Given the description of an element on the screen output the (x, y) to click on. 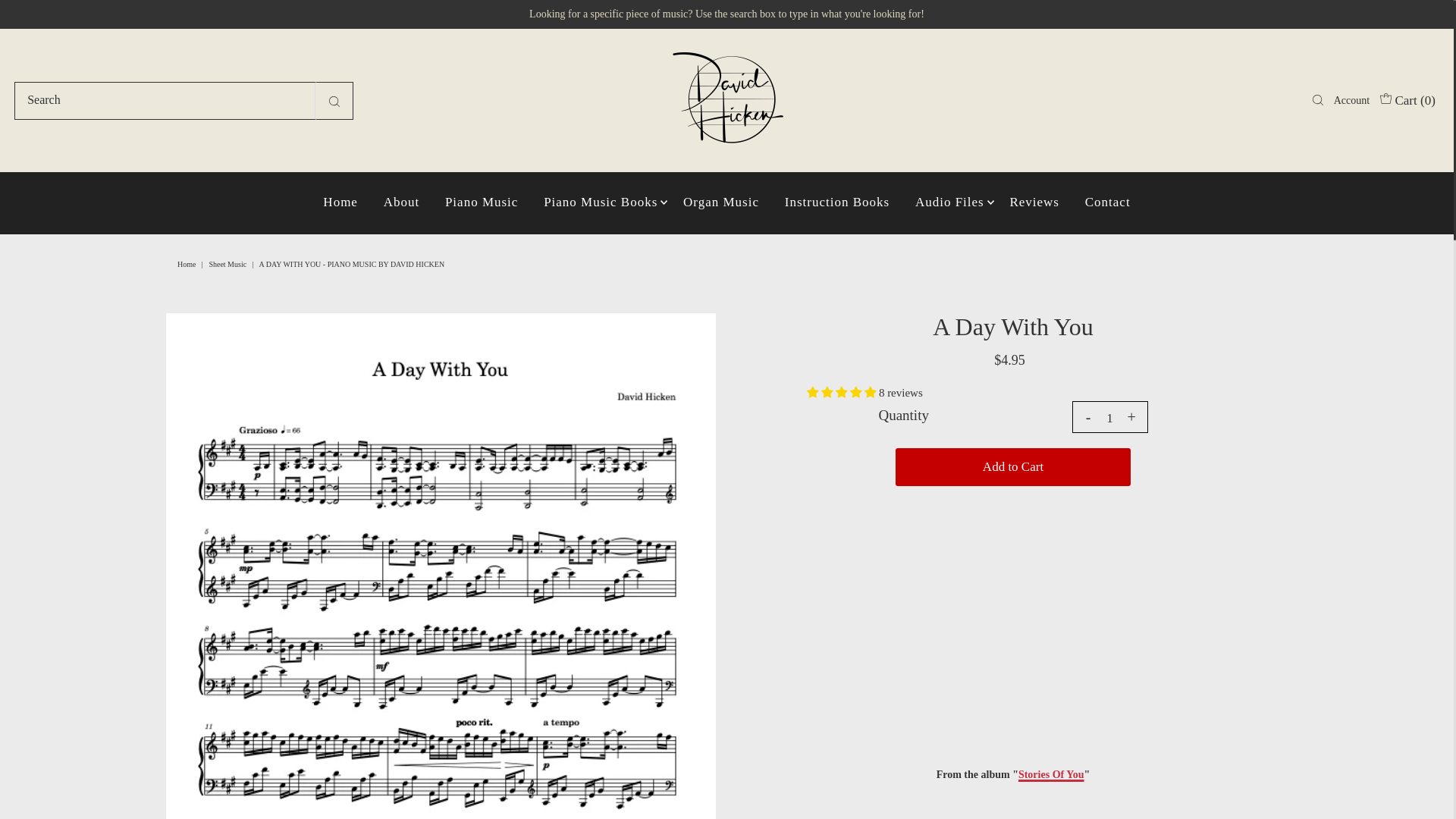
YouTube video player (1013, 617)
Home (188, 264)
Sheet Music (229, 264)
Add to Cart (1013, 466)
Piano Music (481, 201)
Account (1351, 100)
Home (340, 201)
Piano Music Books (600, 201)
About (401, 201)
